Given the description of an element on the screen output the (x, y) to click on. 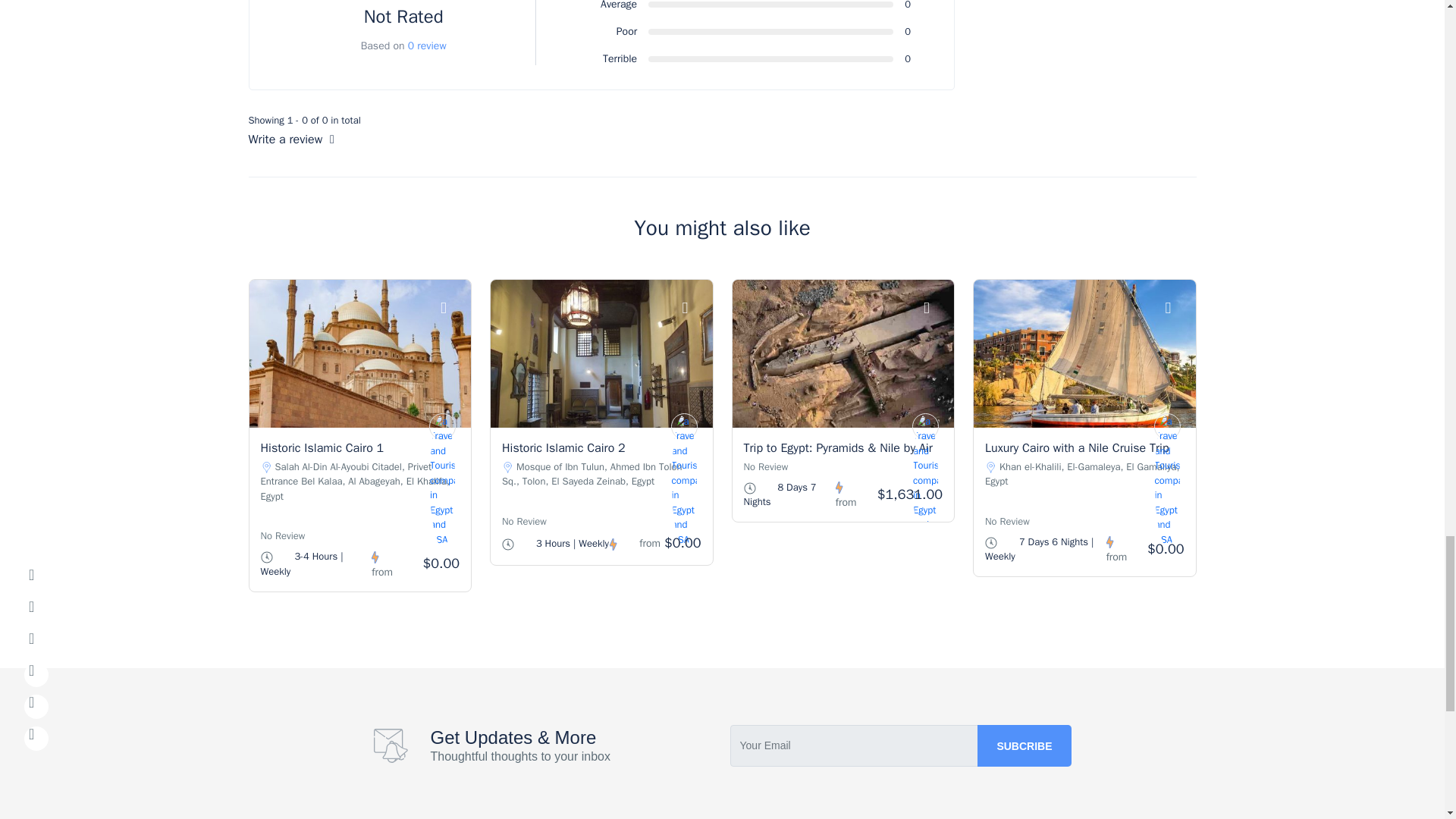
Add to wishlist (693, 307)
mohamed (925, 426)
mohamed (1167, 426)
Add to wishlist (452, 307)
Subcribe (1023, 745)
mohamed (683, 426)
Add to wishlist (1176, 307)
Add to wishlist (934, 307)
Write a review (291, 139)
mohamed (442, 426)
